Given the description of an element on the screen output the (x, y) to click on. 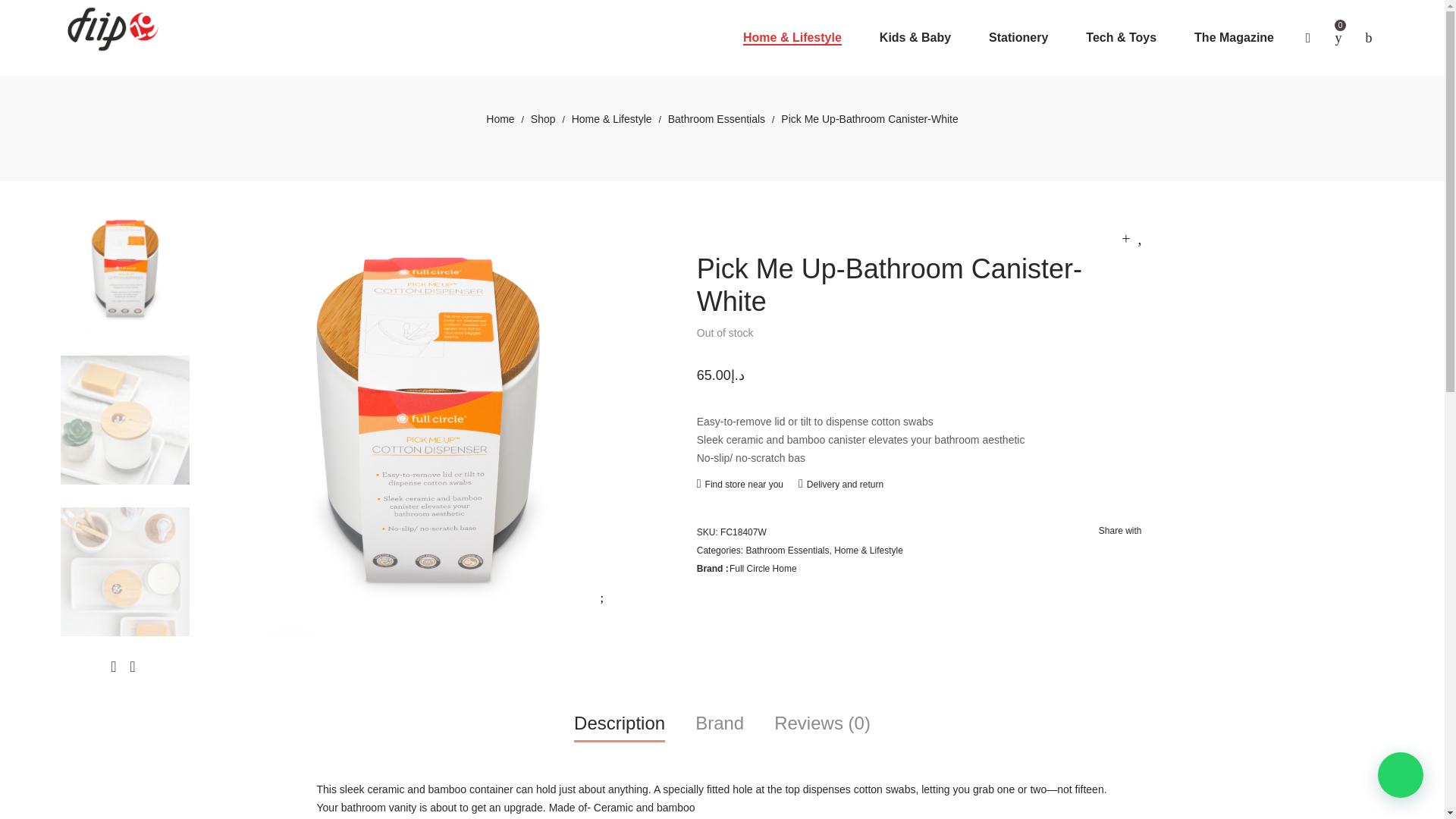
0 (1338, 37)
The Magazine (1233, 37)
Flip19 (113, 28)
Stationery (1017, 37)
Bathroom Essentials (716, 119)
View brand (762, 568)
Shop (543, 119)
Home (499, 119)
